Given the description of an element on the screen output the (x, y) to click on. 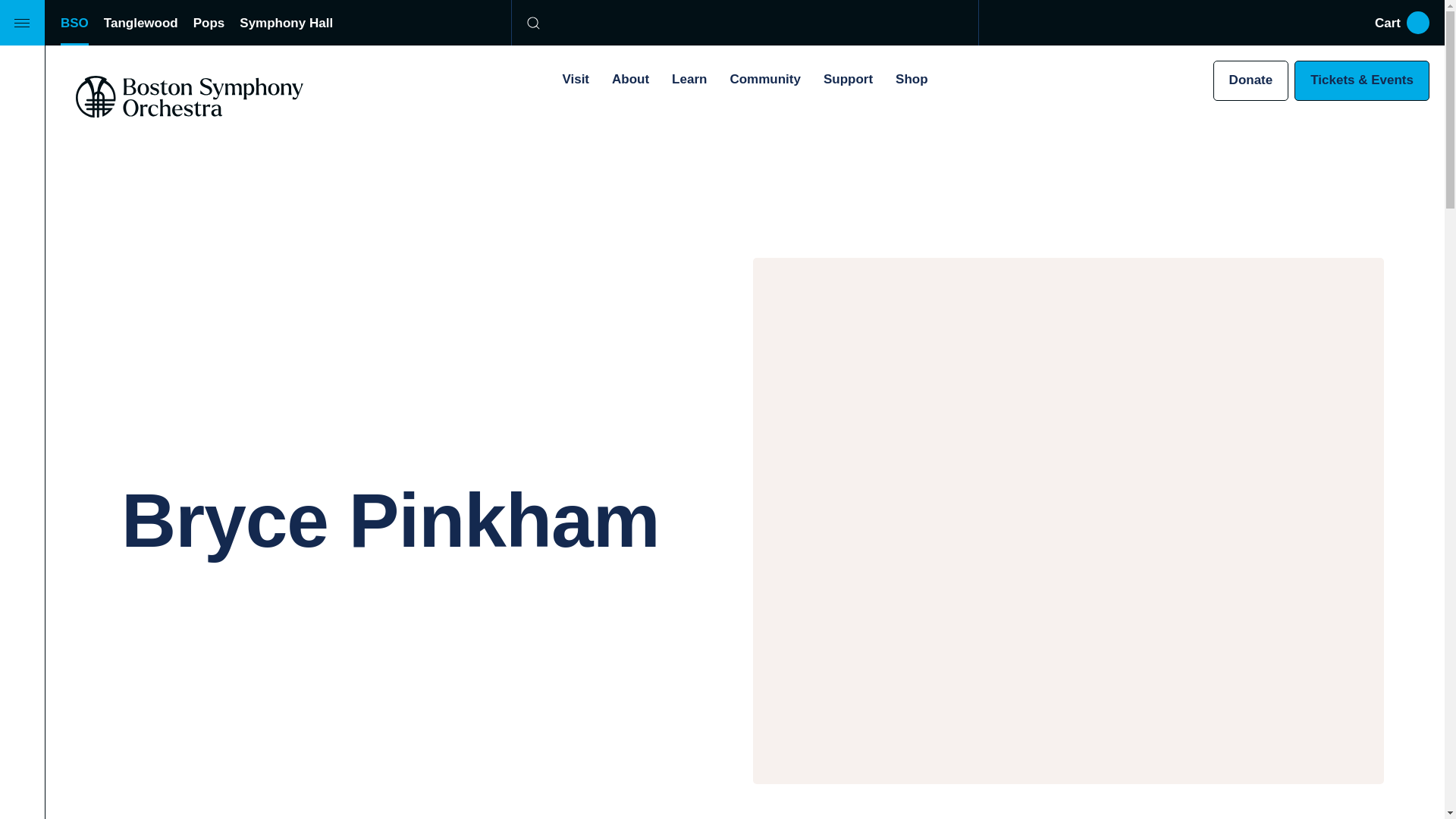
Symphony Hall (286, 22)
Tanglewood (140, 22)
Menu (22, 22)
